Given the description of an element on the screen output the (x, y) to click on. 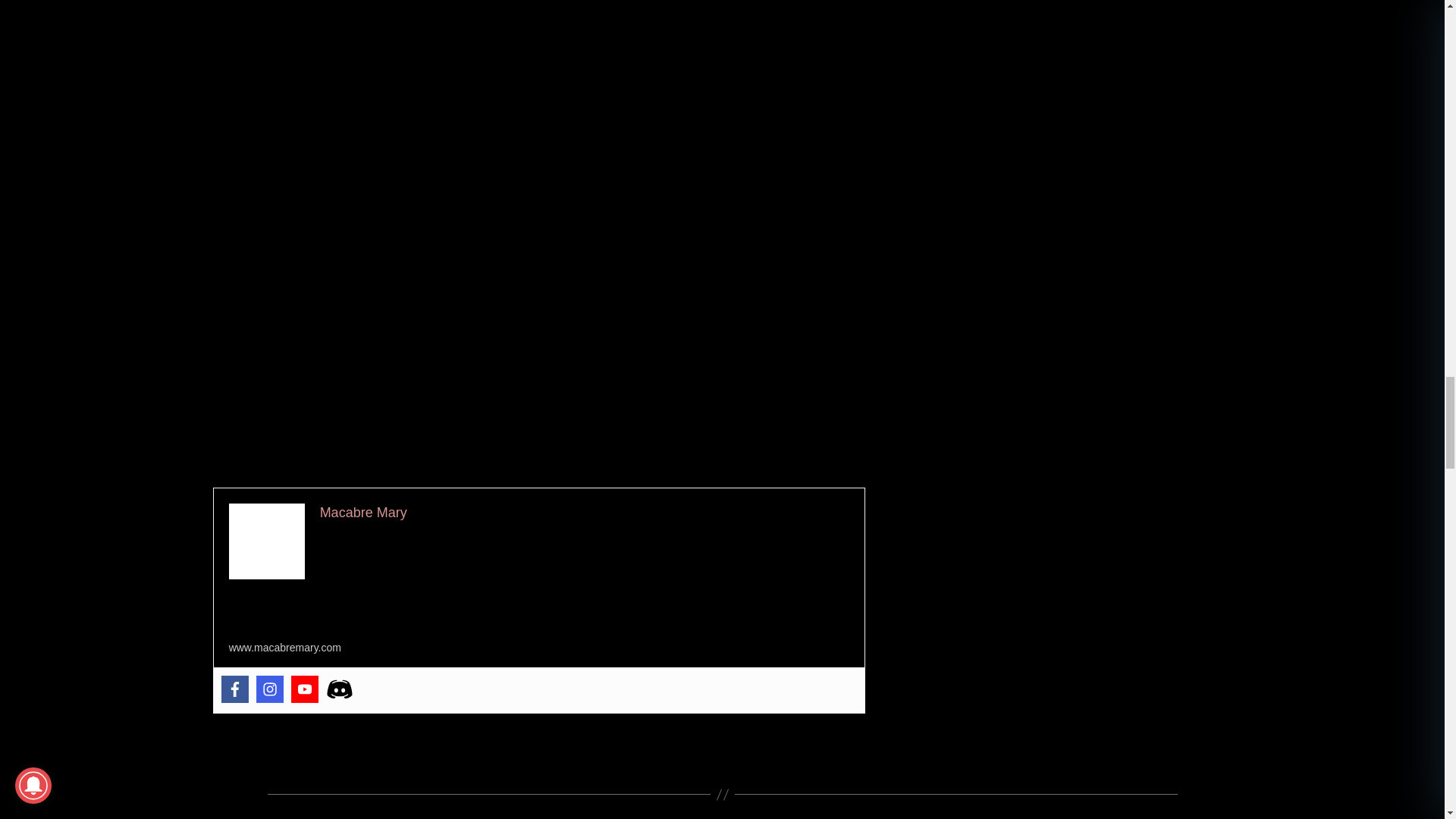
Discord (339, 688)
Instagram (269, 688)
Youtube (304, 688)
Facebook (234, 688)
